Given the description of an element on the screen output the (x, y) to click on. 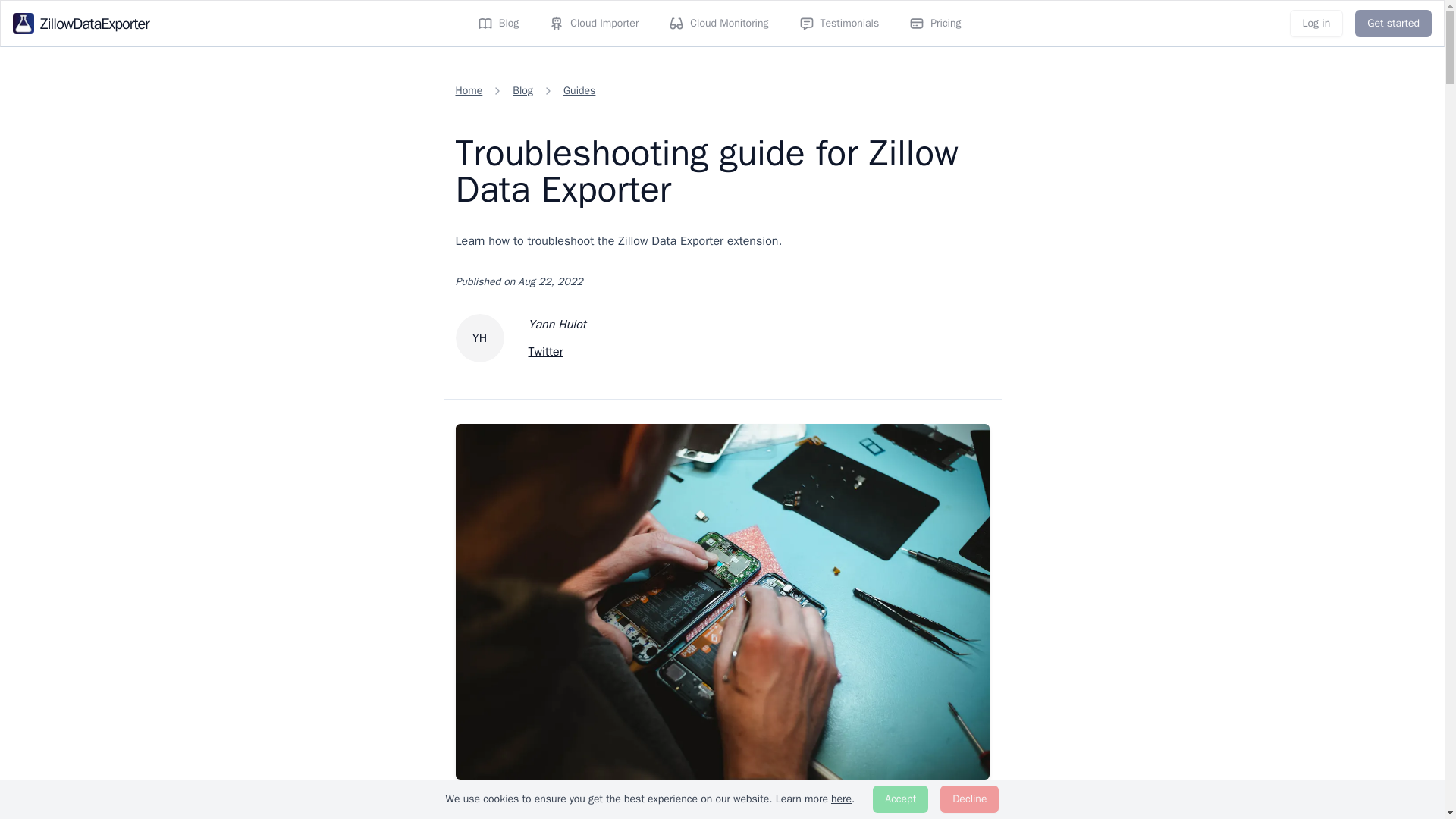
Guides (579, 90)
Twitter (556, 352)
Get started (1393, 22)
Pricing (934, 22)
ZillowDataExporter (81, 23)
Blog (522, 90)
Testimonials (839, 22)
Blog (498, 22)
Cloud Importer (593, 22)
Cloud Monitoring (718, 22)
Log in (1316, 22)
Home (467, 90)
